Given the description of an element on the screen output the (x, y) to click on. 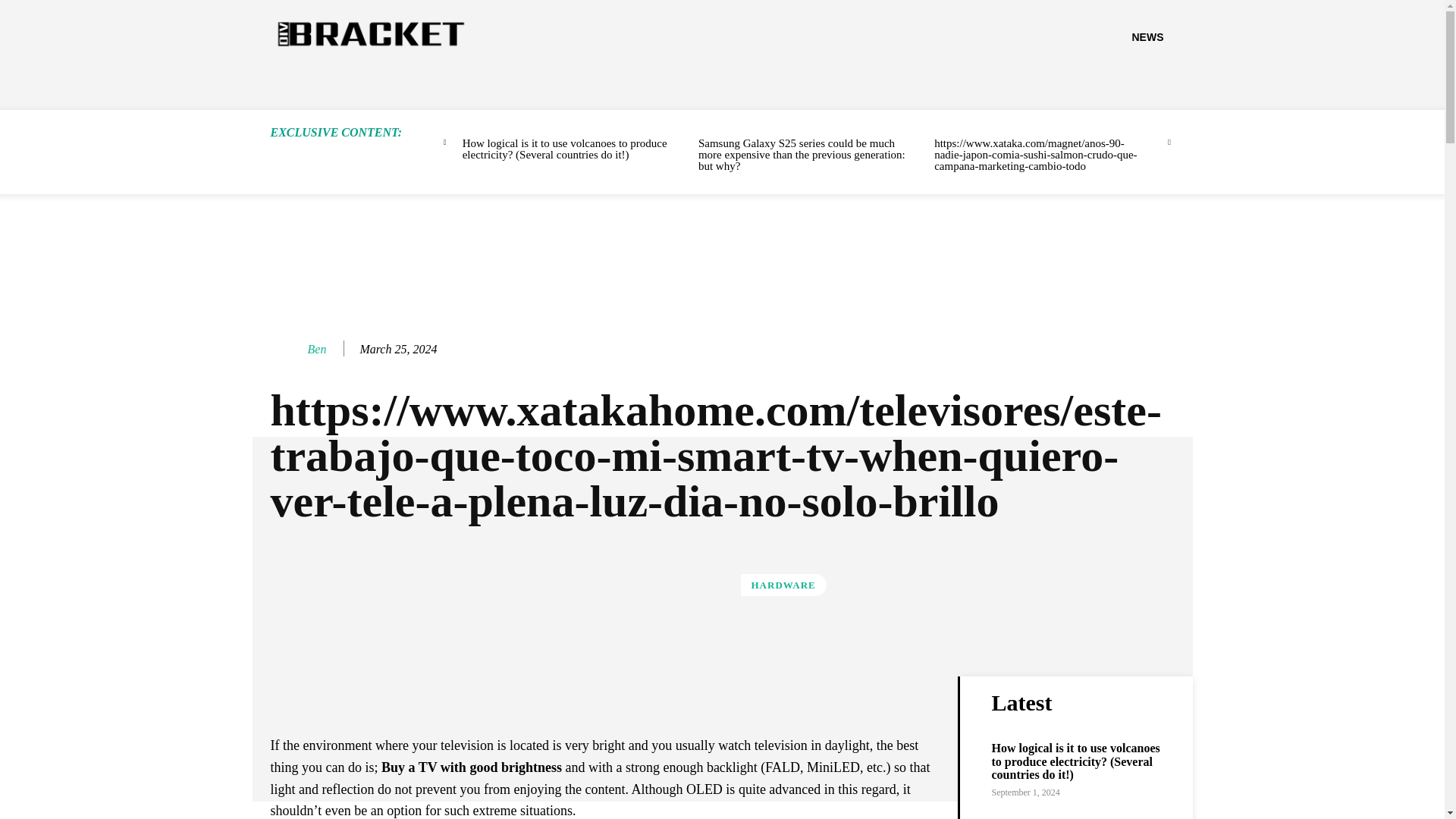
Ben (316, 349)
HARDWARE (782, 585)
Ben (286, 349)
NEWS (1147, 36)
